Given the description of an element on the screen output the (x, y) to click on. 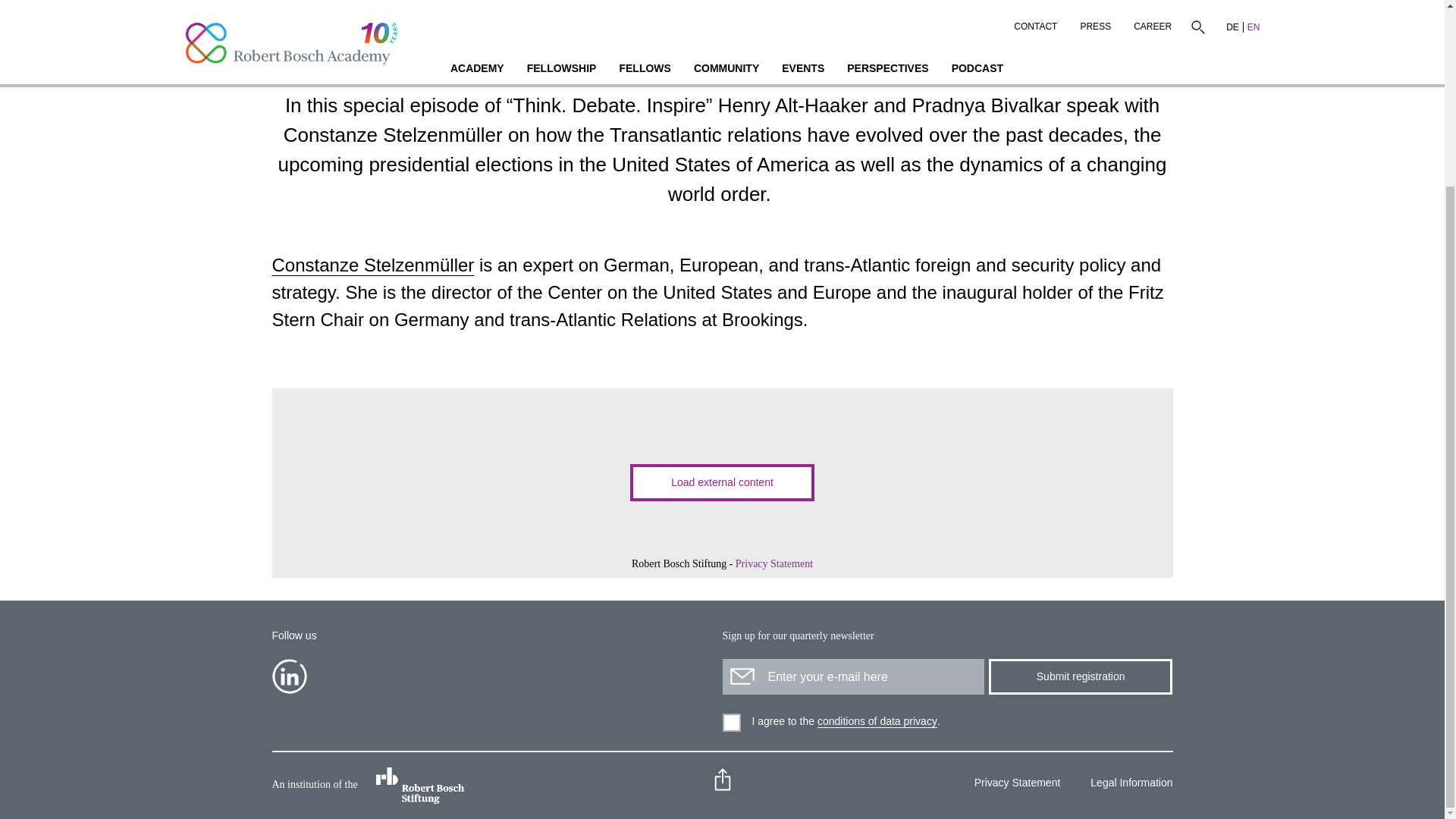
Linkedin (287, 676)
Privacy Statement (773, 563)
Privacy Statement (1011, 784)
Load external content (721, 482)
Legal Information (1125, 784)
conditions of data privacy (876, 721)
Submit registration (1080, 676)
Enter your e-mail here (853, 676)
